Given the description of an element on the screen output the (x, y) to click on. 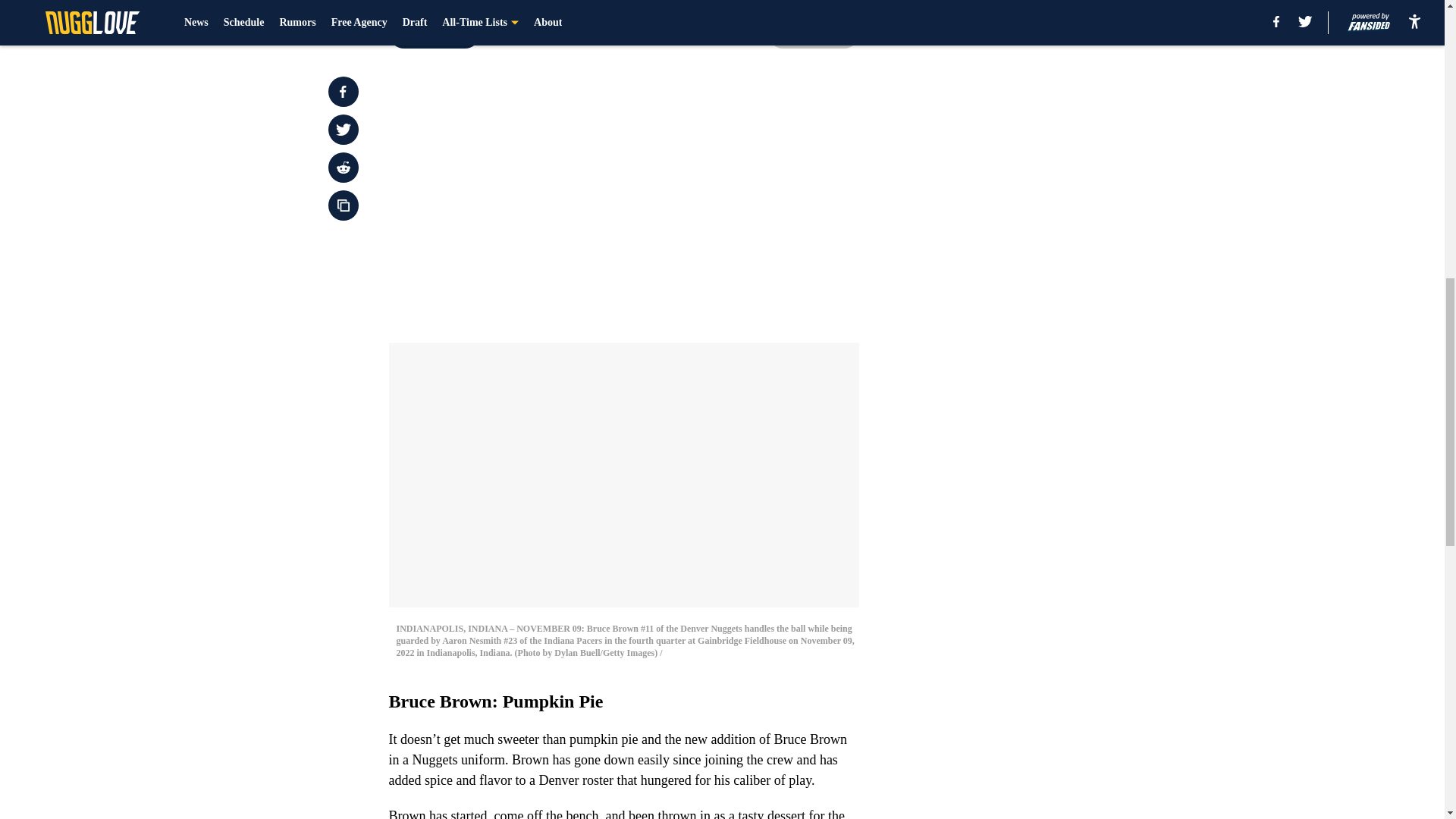
Next (813, 33)
Prev (433, 33)
